Given the description of an element on the screen output the (x, y) to click on. 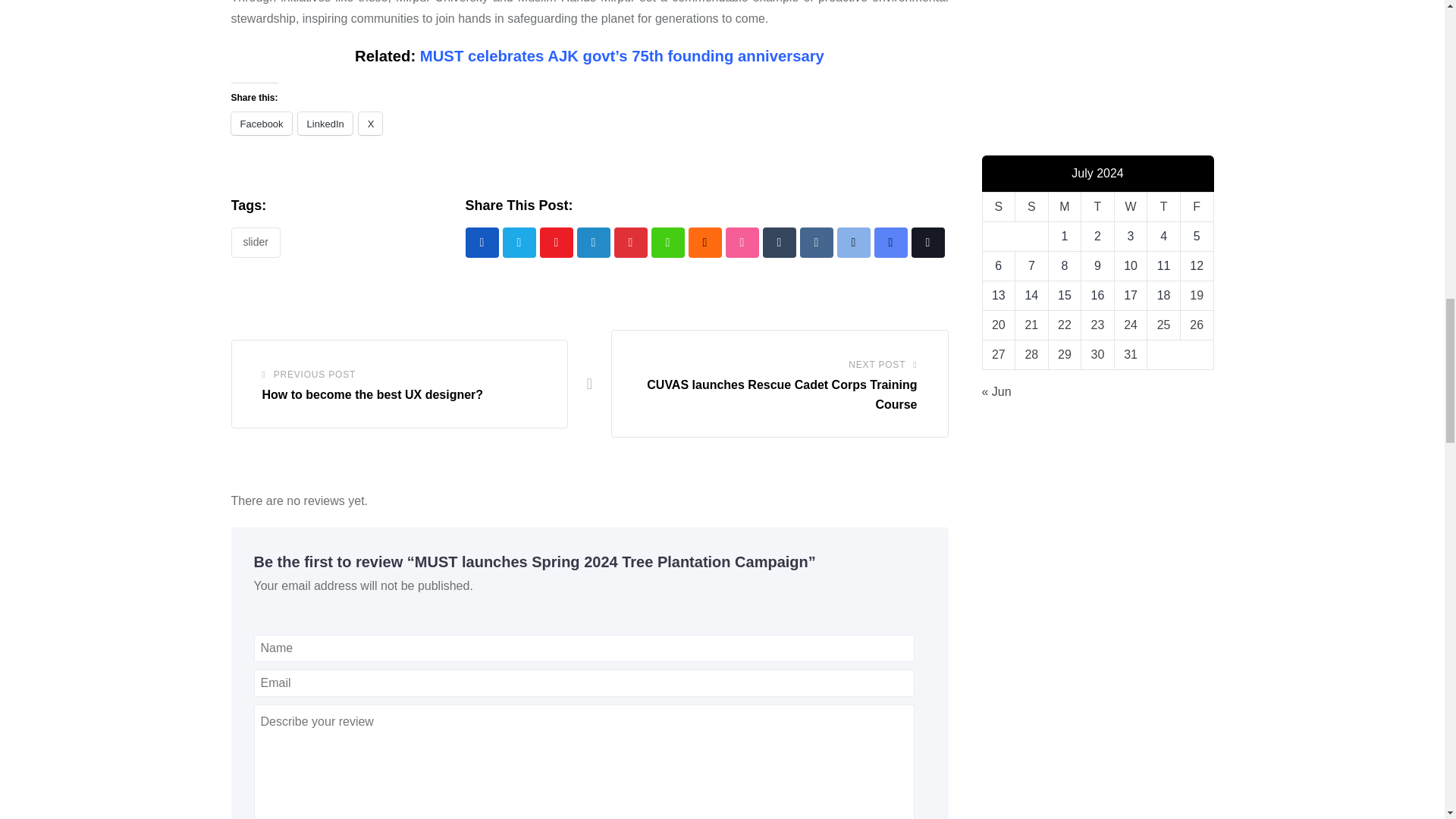
Click to share on LinkedIn (325, 123)
Click to share on Facebook (260, 123)
Click to share on X (370, 123)
